Given the description of an element on the screen output the (x, y) to click on. 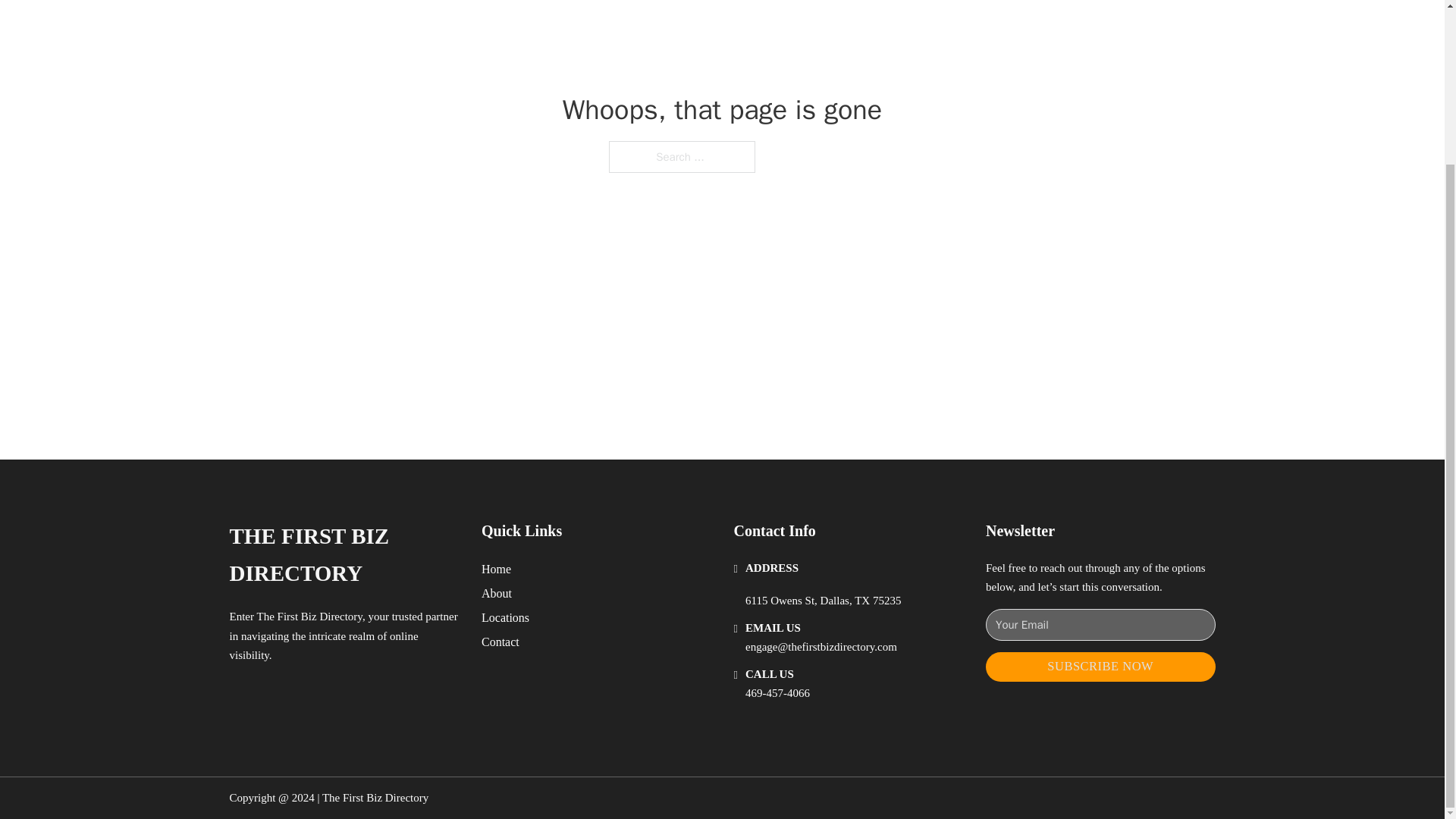
Locations (505, 617)
THE FIRST BIZ DIRECTORY (343, 554)
469-457-4066 (777, 693)
Contact (500, 641)
About (496, 593)
Home (496, 568)
SUBSCRIBE NOW (1100, 666)
